Given the description of an element on the screen output the (x, y) to click on. 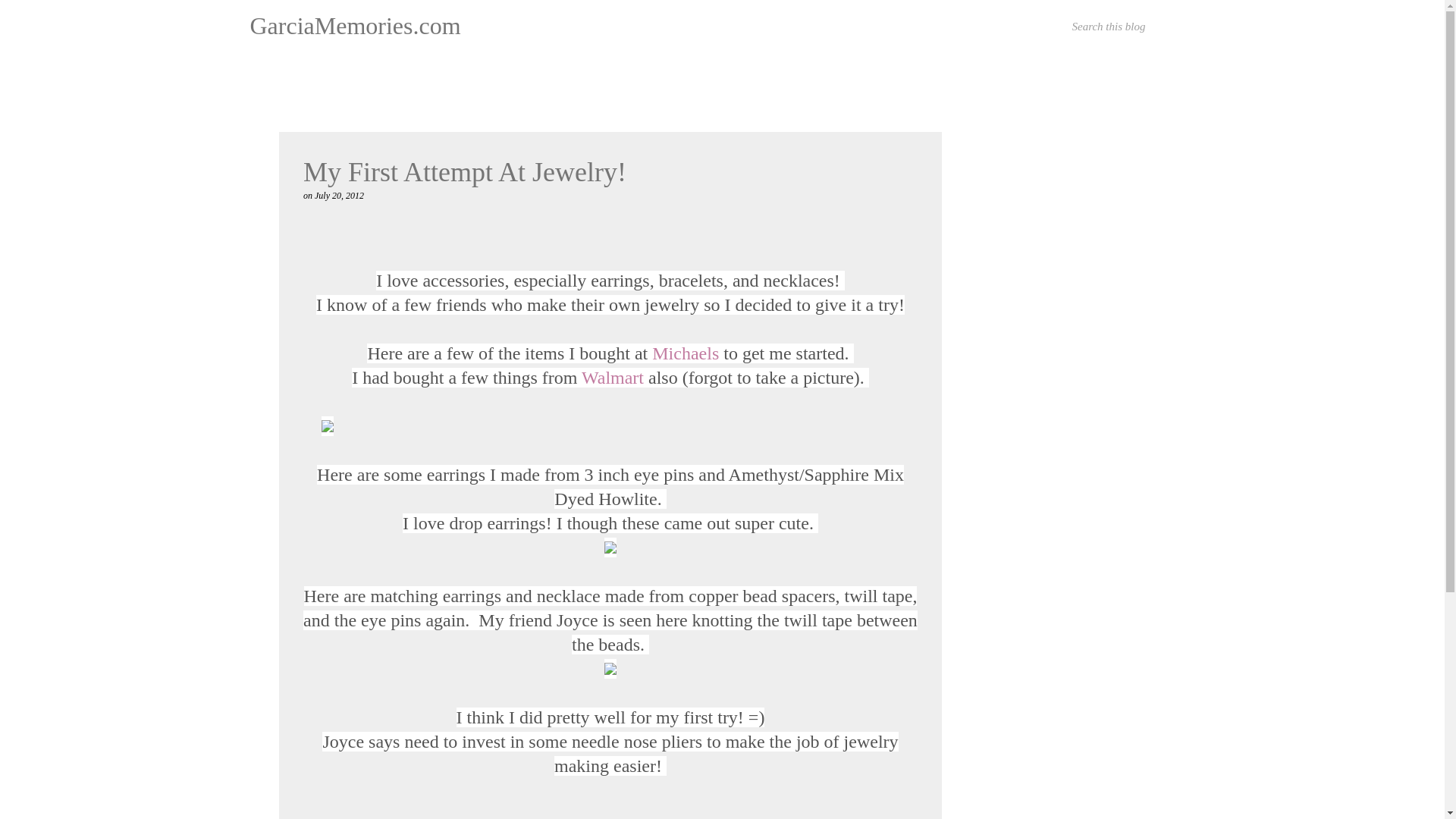
GarciaMemories.com (355, 25)
Michaels (685, 353)
permanent link (339, 195)
Walmart (611, 377)
July 20, 2012 (339, 195)
